Given the description of an element on the screen output the (x, y) to click on. 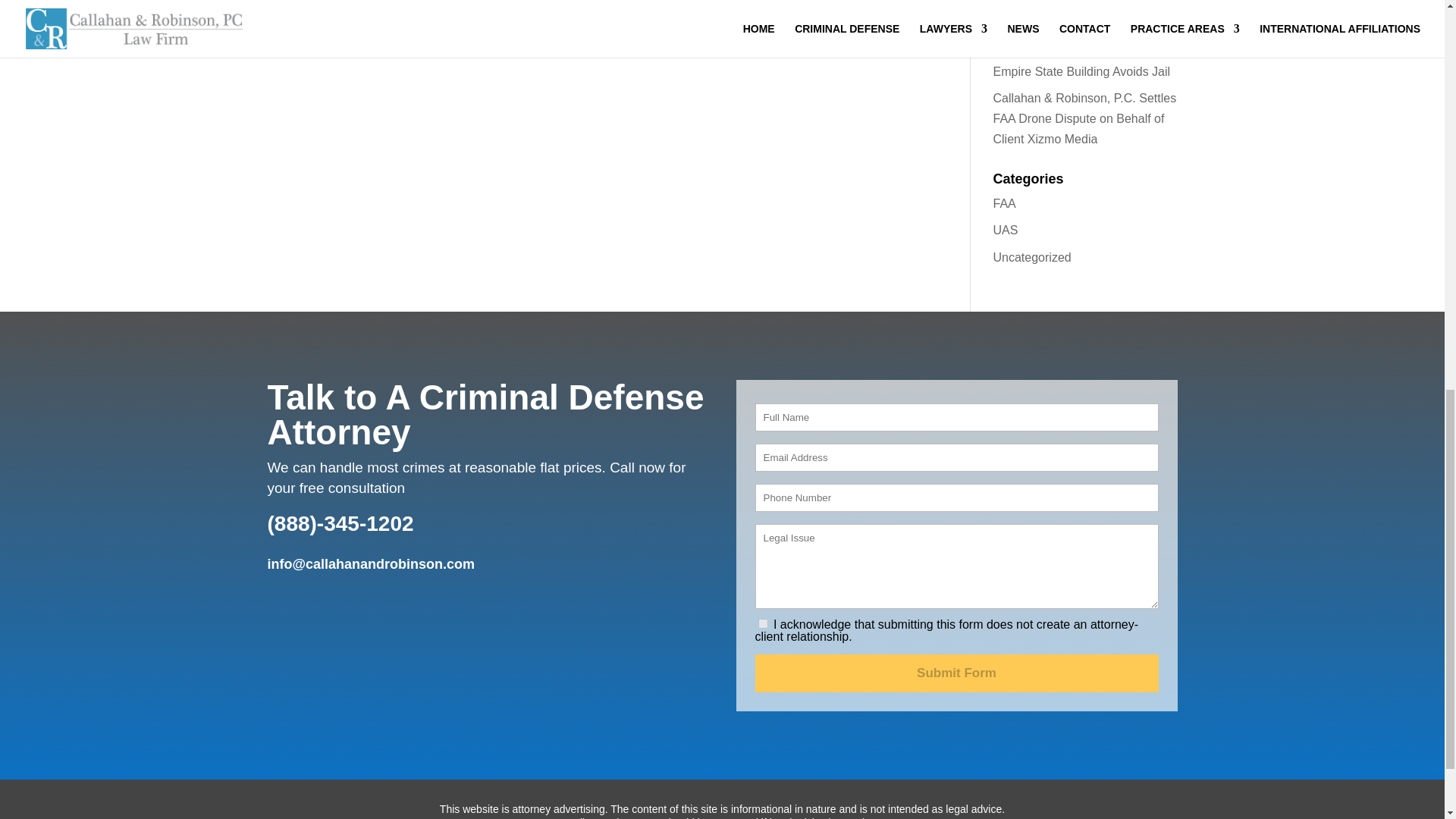
 Submit Form  (956, 673)
 Submit Form  (956, 673)
FAA (1004, 203)
Uncategorized (1031, 256)
UAS (1004, 229)
